Given the description of an element on the screen output the (x, y) to click on. 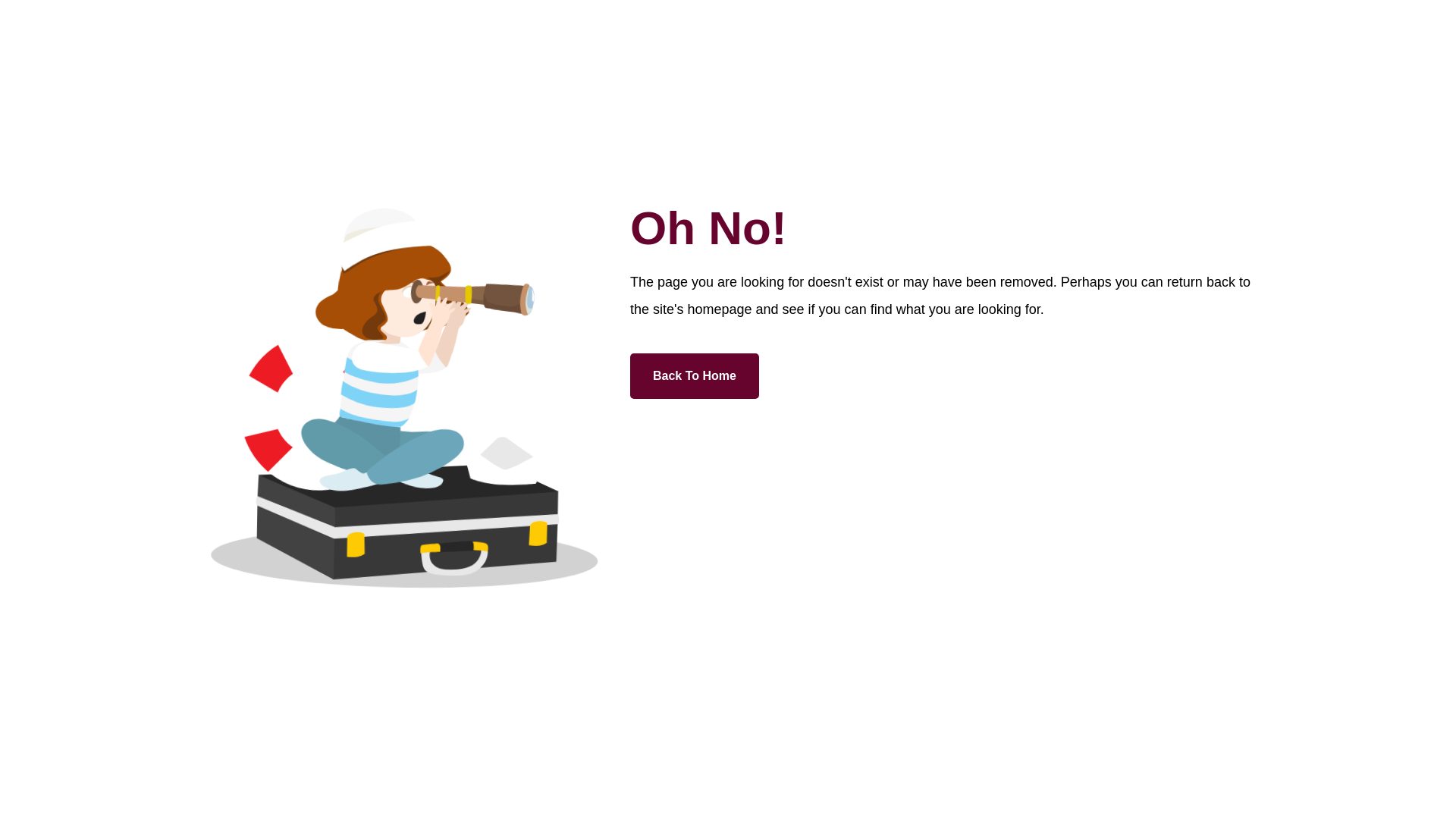
Back To Home Element type: text (694, 375)
